Given the description of an element on the screen output the (x, y) to click on. 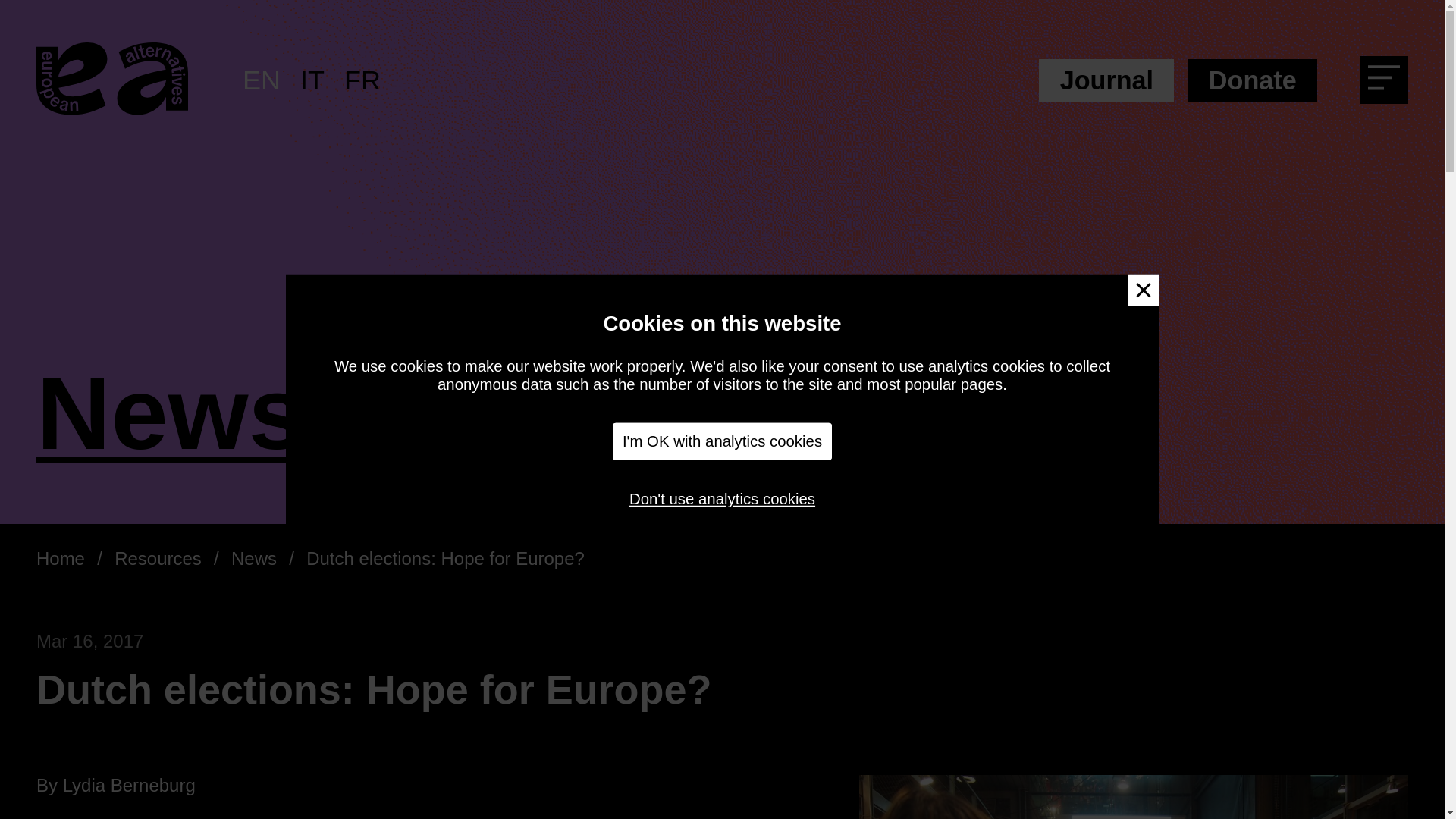
EN (262, 79)
Menu (1389, 82)
Go to the European Alternatives home page (111, 79)
I'm OK with analytics cookies (722, 441)
Journal (1106, 79)
FR (361, 79)
EN (262, 79)
Dismiss message (1142, 290)
FR (361, 79)
Don't use analytics cookies (721, 498)
